Given the description of an element on the screen output the (x, y) to click on. 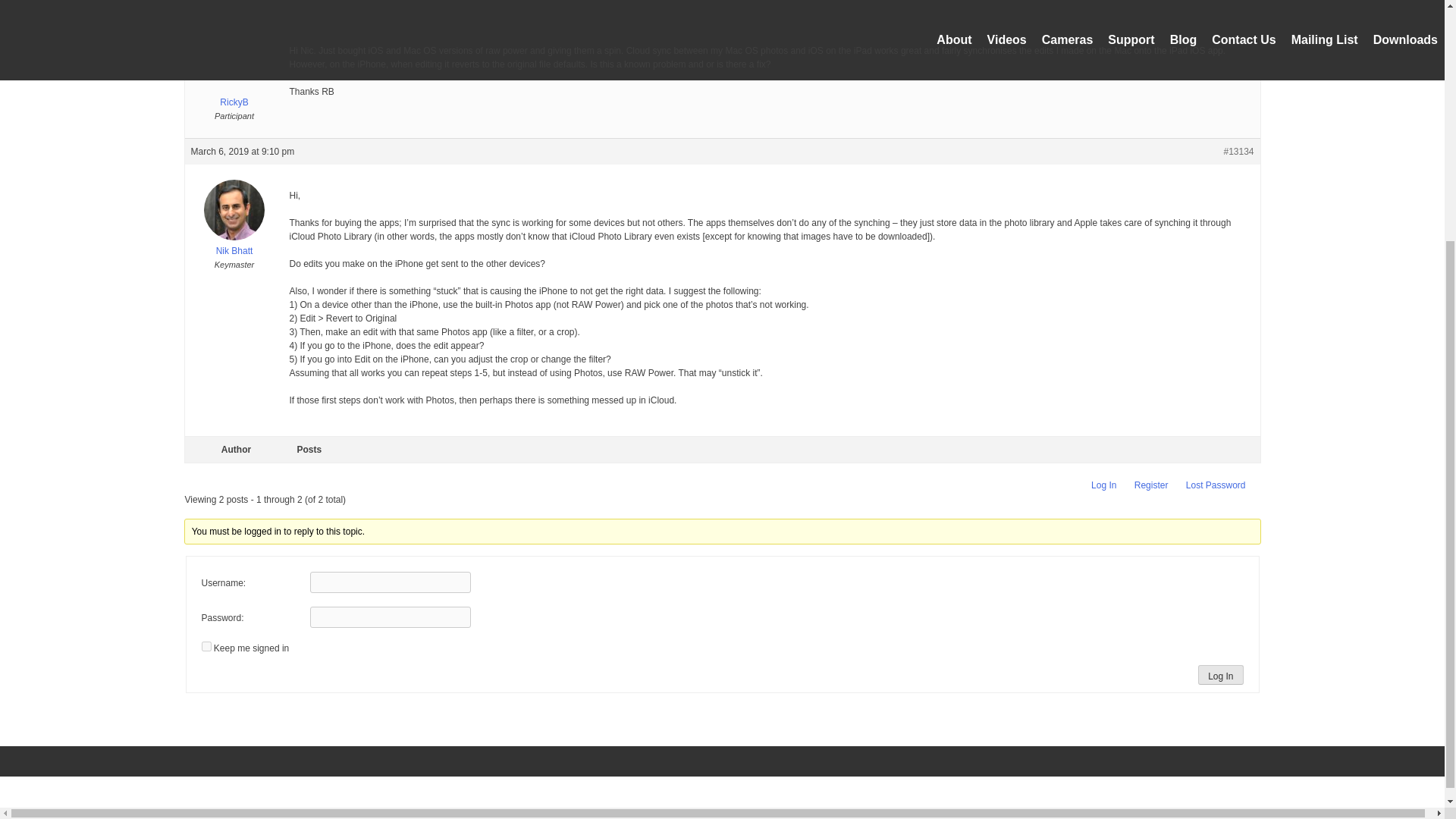
Log In (1103, 484)
Lost Password (1216, 484)
View Nik Bhatt's profile (234, 244)
Nik Bhatt (234, 244)
View RickyB's profile (234, 74)
Register (1151, 484)
Log In (1220, 674)
forever (206, 646)
RickyB (234, 74)
